Given the description of an element on the screen output the (x, y) to click on. 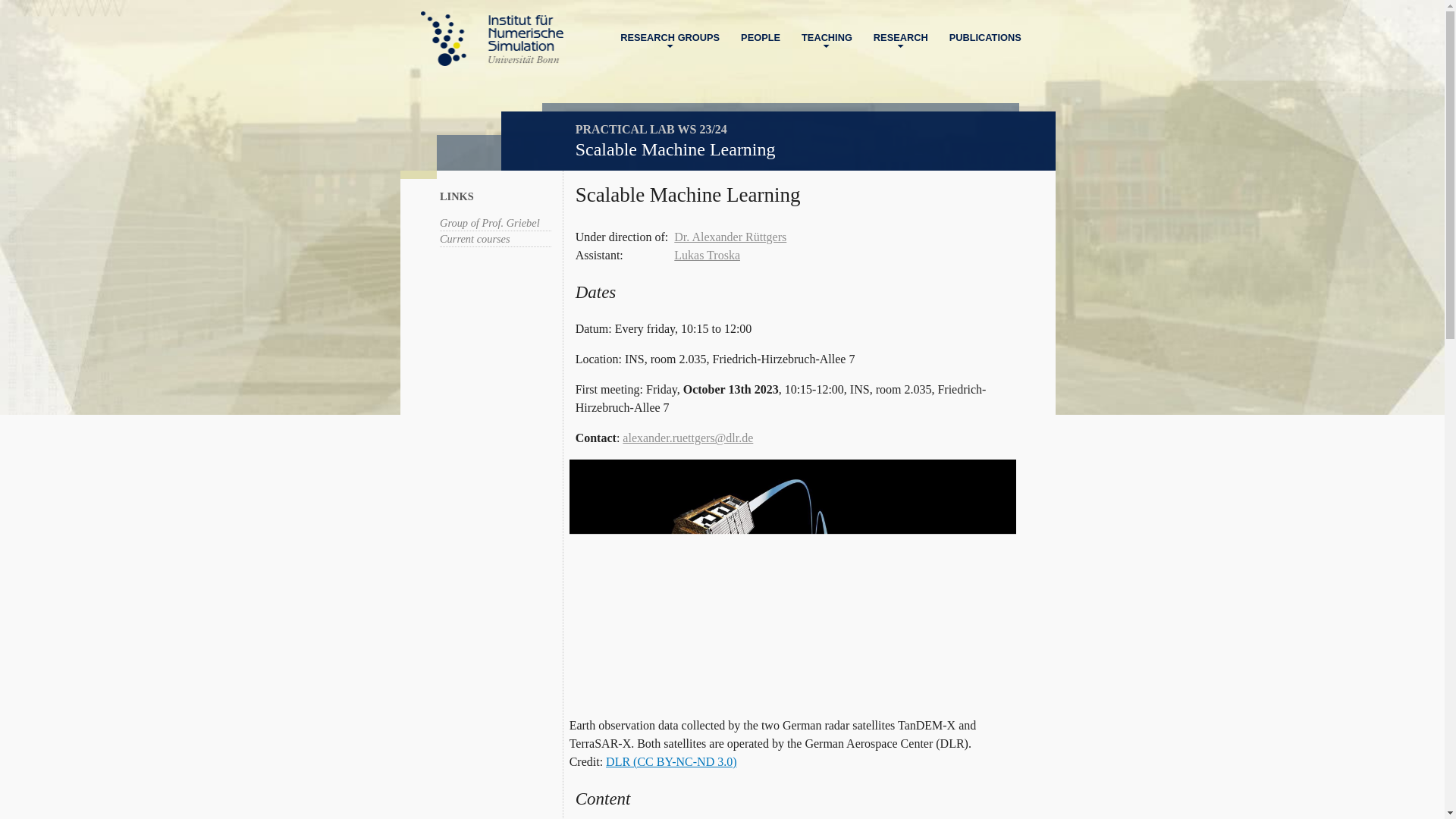
Toggle Drop-down (900, 44)
PEOPLE (760, 37)
Home (491, 38)
Toggle Drop-down (670, 44)
Lukas Troska (706, 254)
Toggle Drop-down (825, 44)
RESEARCH (900, 37)
PUBLICATIONS (985, 37)
Current courses (475, 238)
RESEARCH GROUPS (670, 37)
